Given the description of an element on the screen output the (x, y) to click on. 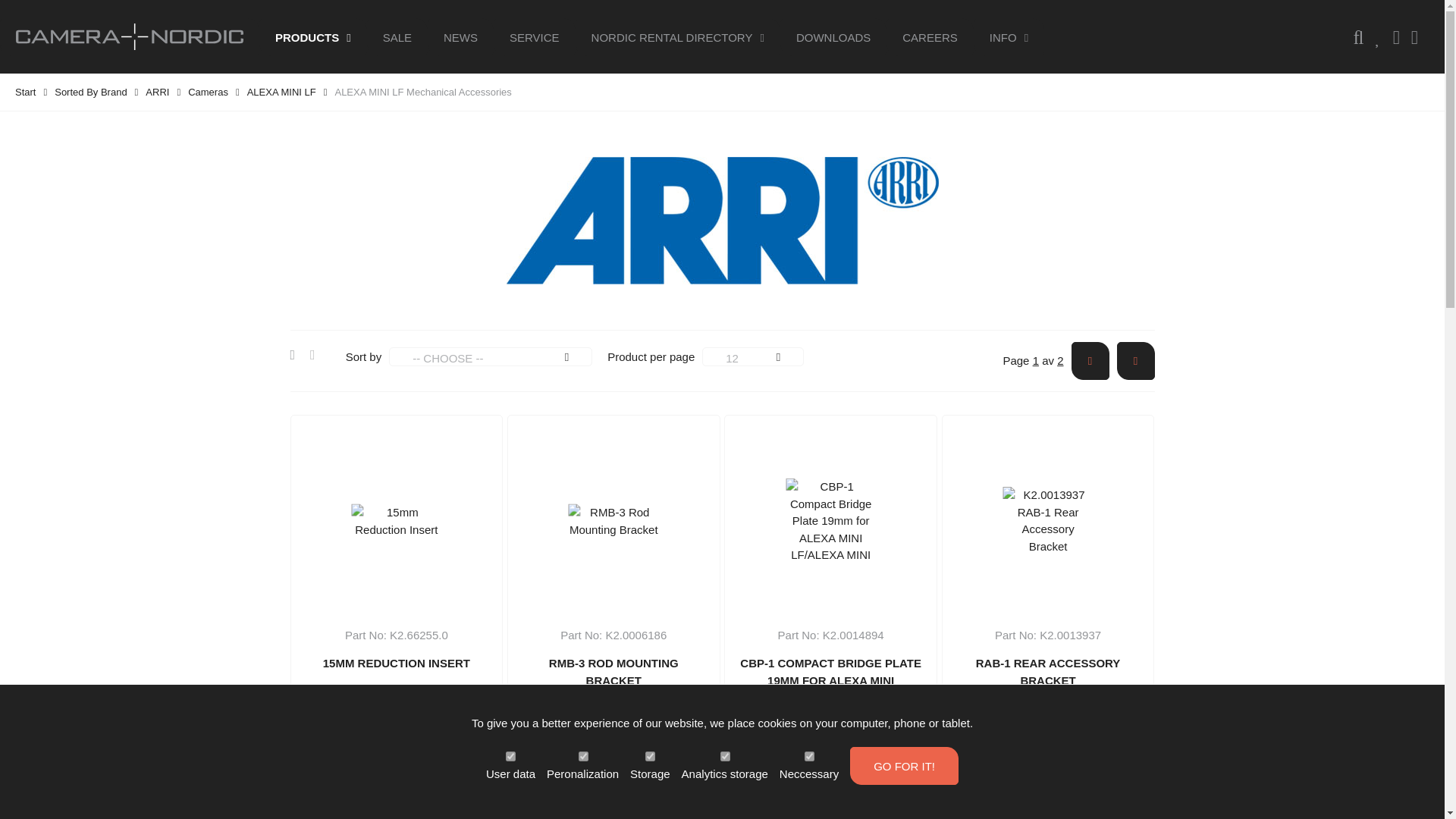
personalization (583, 755)
neccessary (809, 755)
PRODUCTS (312, 37)
userdata (510, 755)
RMB-3 Rod Mounting Bracket (614, 521)
storage (650, 755)
15mm Reduction Insert (395, 521)
K2.0013937 RAB-1 Rear Accessory Bracket (1048, 520)
analyticsstorage (725, 755)
